Given the description of an element on the screen output the (x, y) to click on. 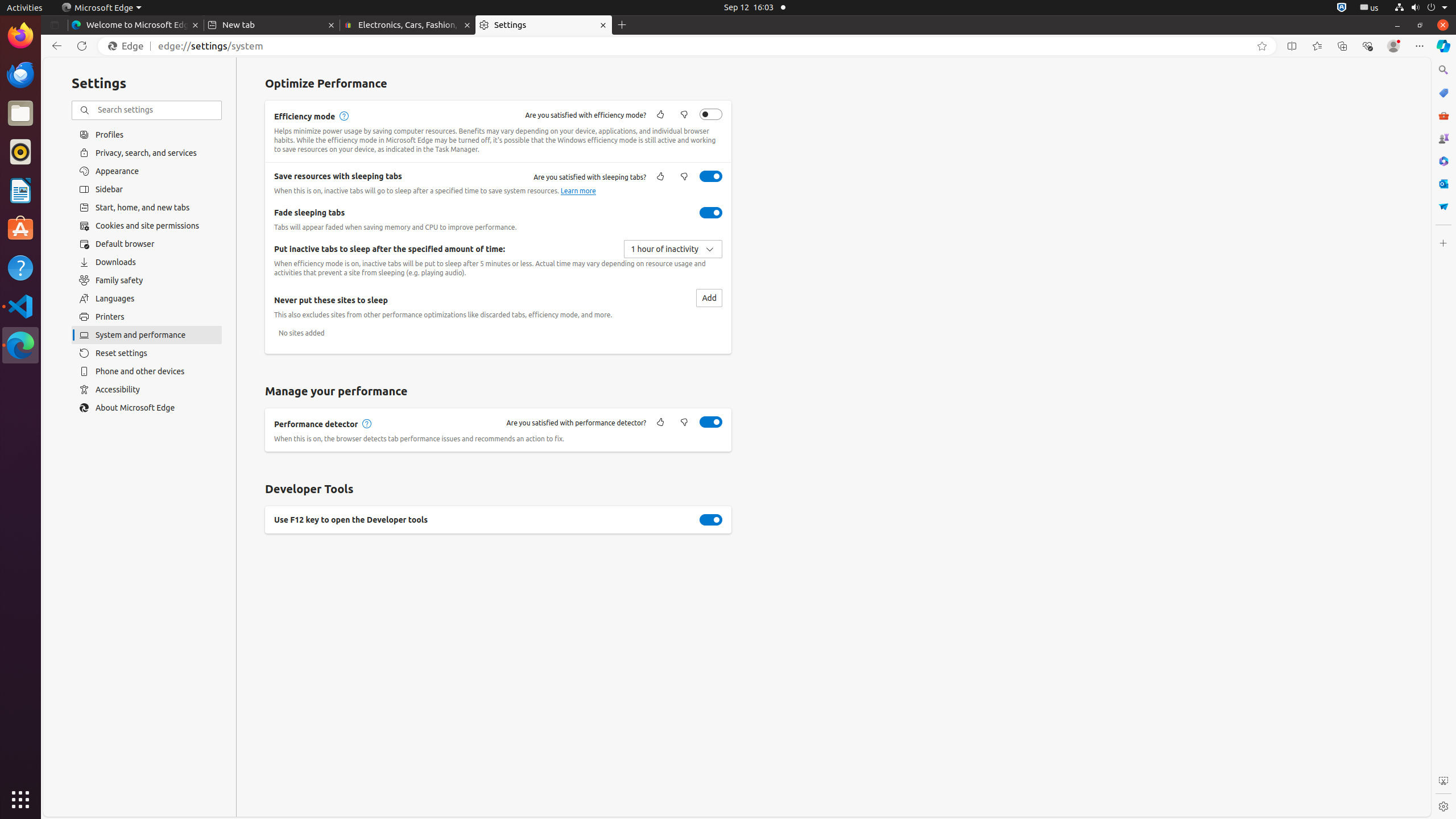
Microsoft Edge Element type: push-button (20, 344)
New Tab Element type: push-button (622, 25)
Put inactive tabs to sleep after the specified amount of time: 1 hour of inactivity Element type: push-button (672, 249)
Screenshot Element type: push-button (1443, 780)
Thunderbird Mail Element type: push-button (20, 74)
